Given the description of an element on the screen output the (x, y) to click on. 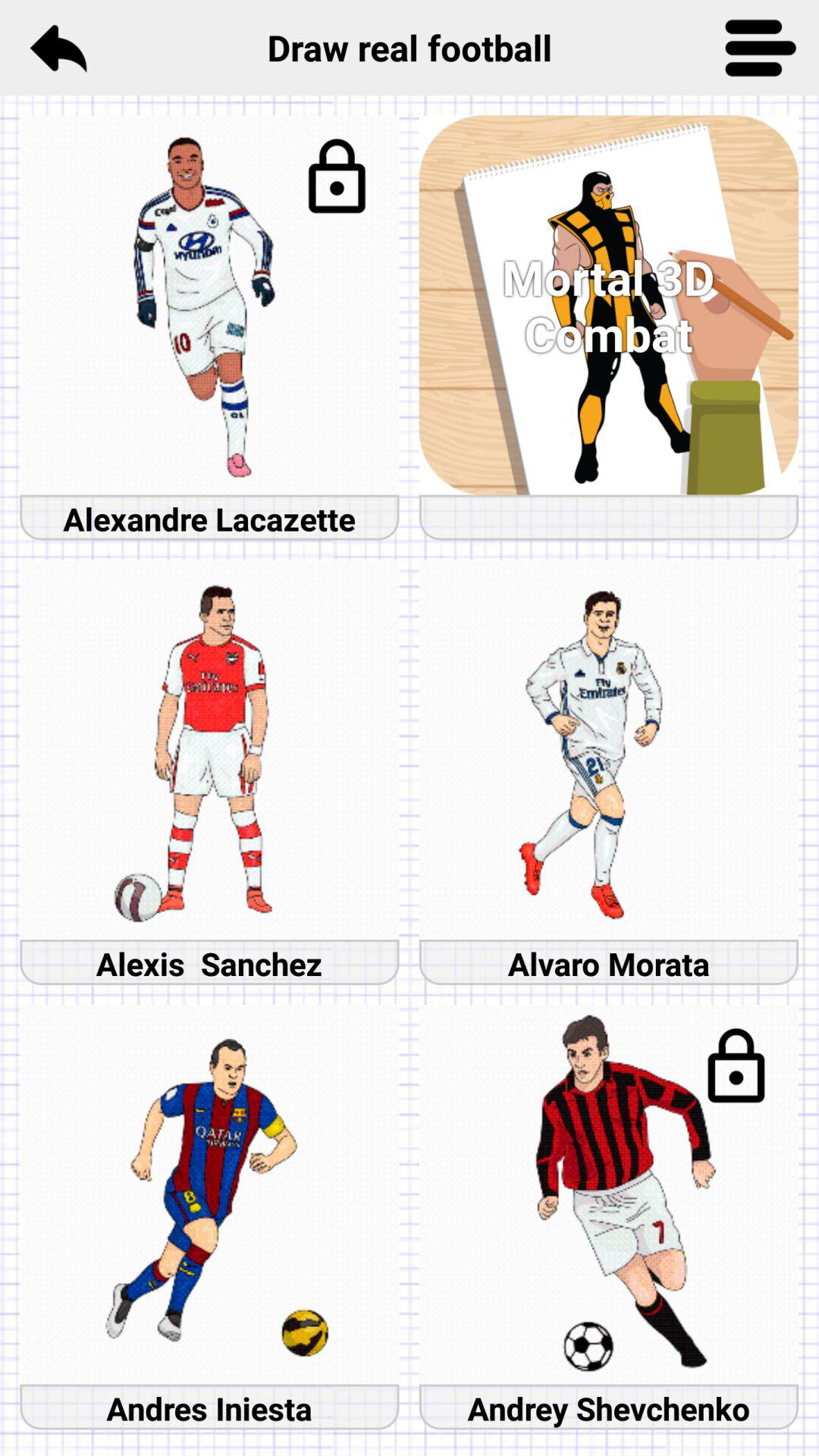
go back (58, 47)
